Given the description of an element on the screen output the (x, y) to click on. 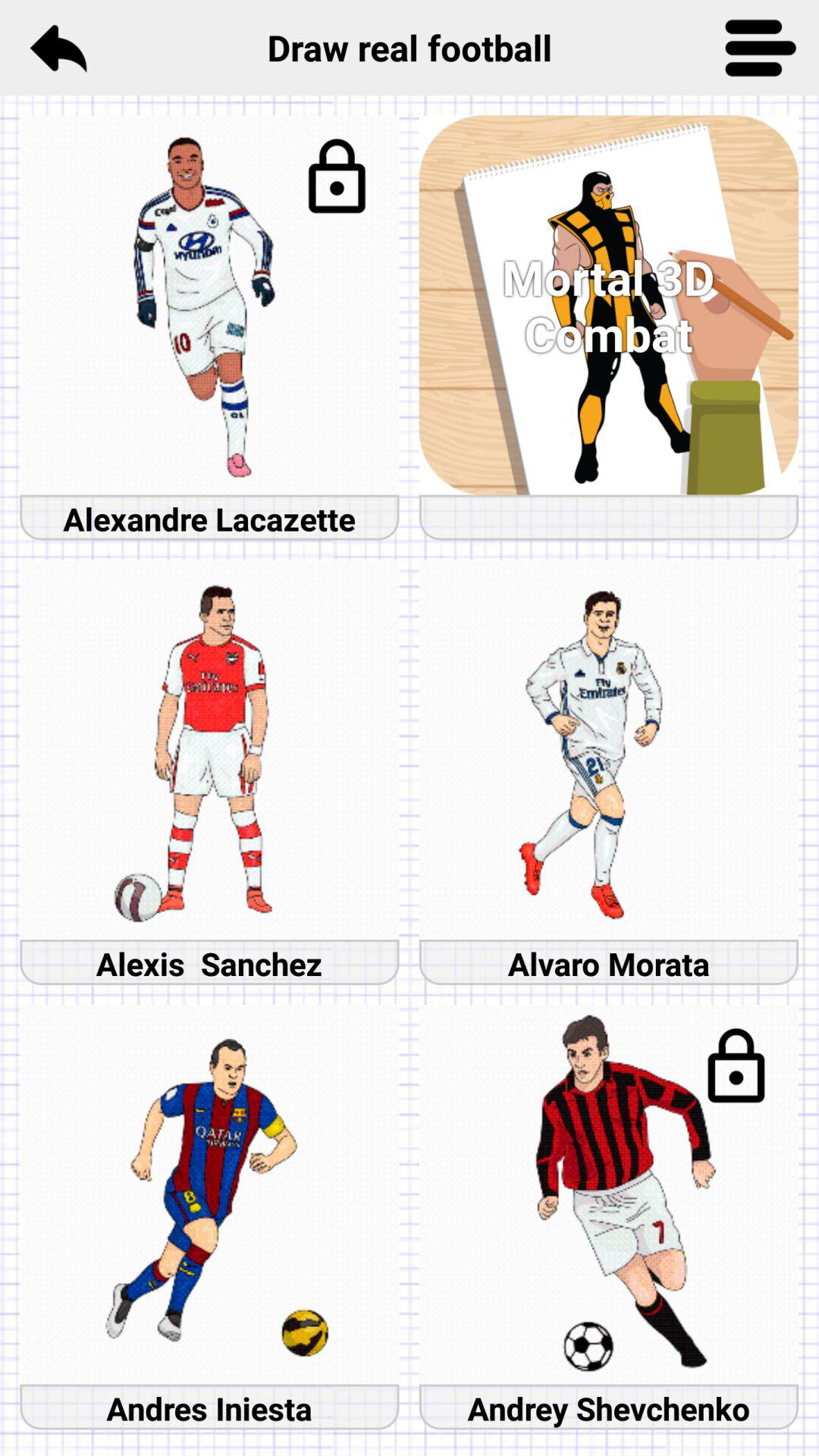
go back (58, 47)
